Given the description of an element on the screen output the (x, y) to click on. 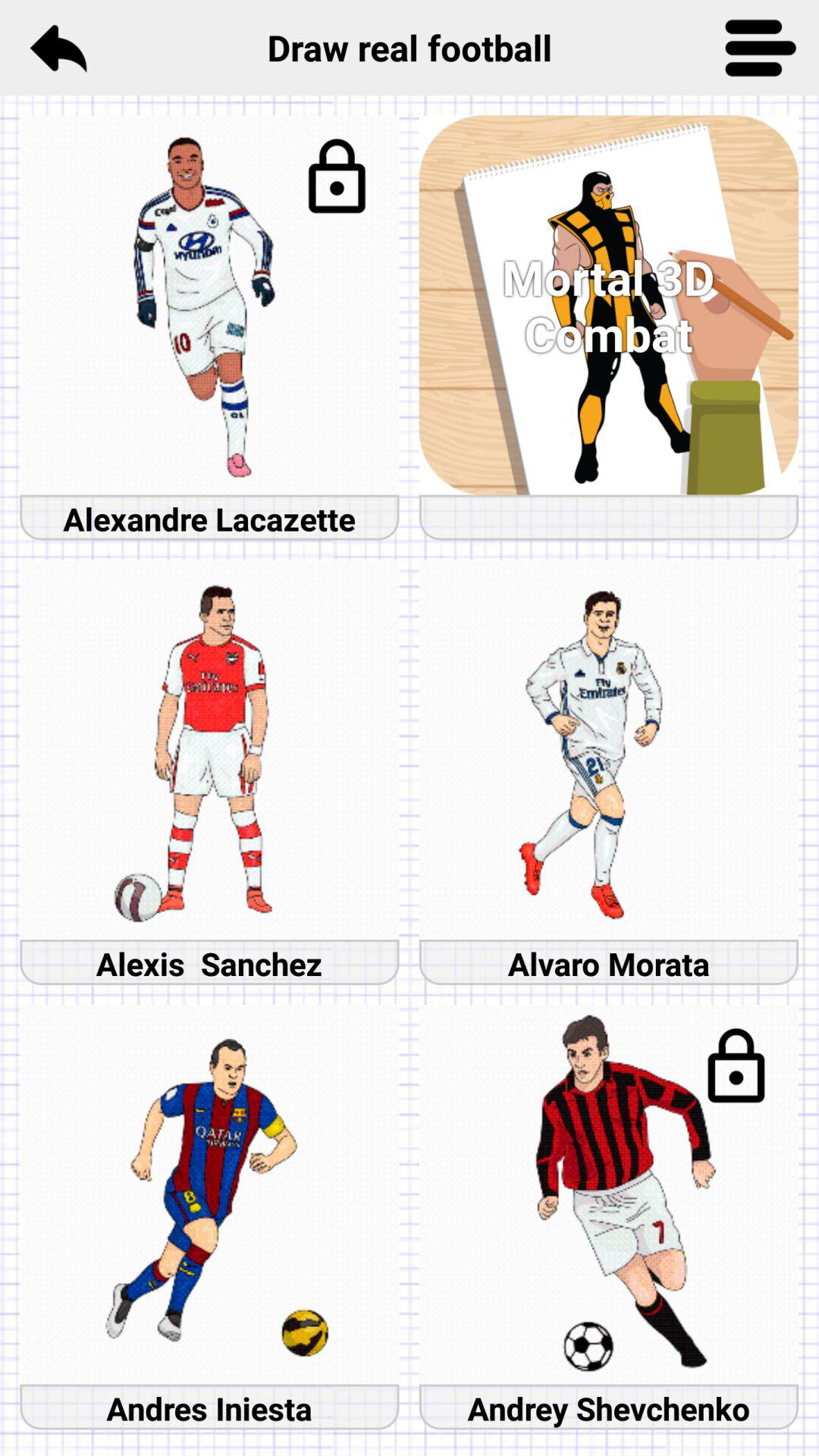
go back (58, 47)
